Given the description of an element on the screen output the (x, y) to click on. 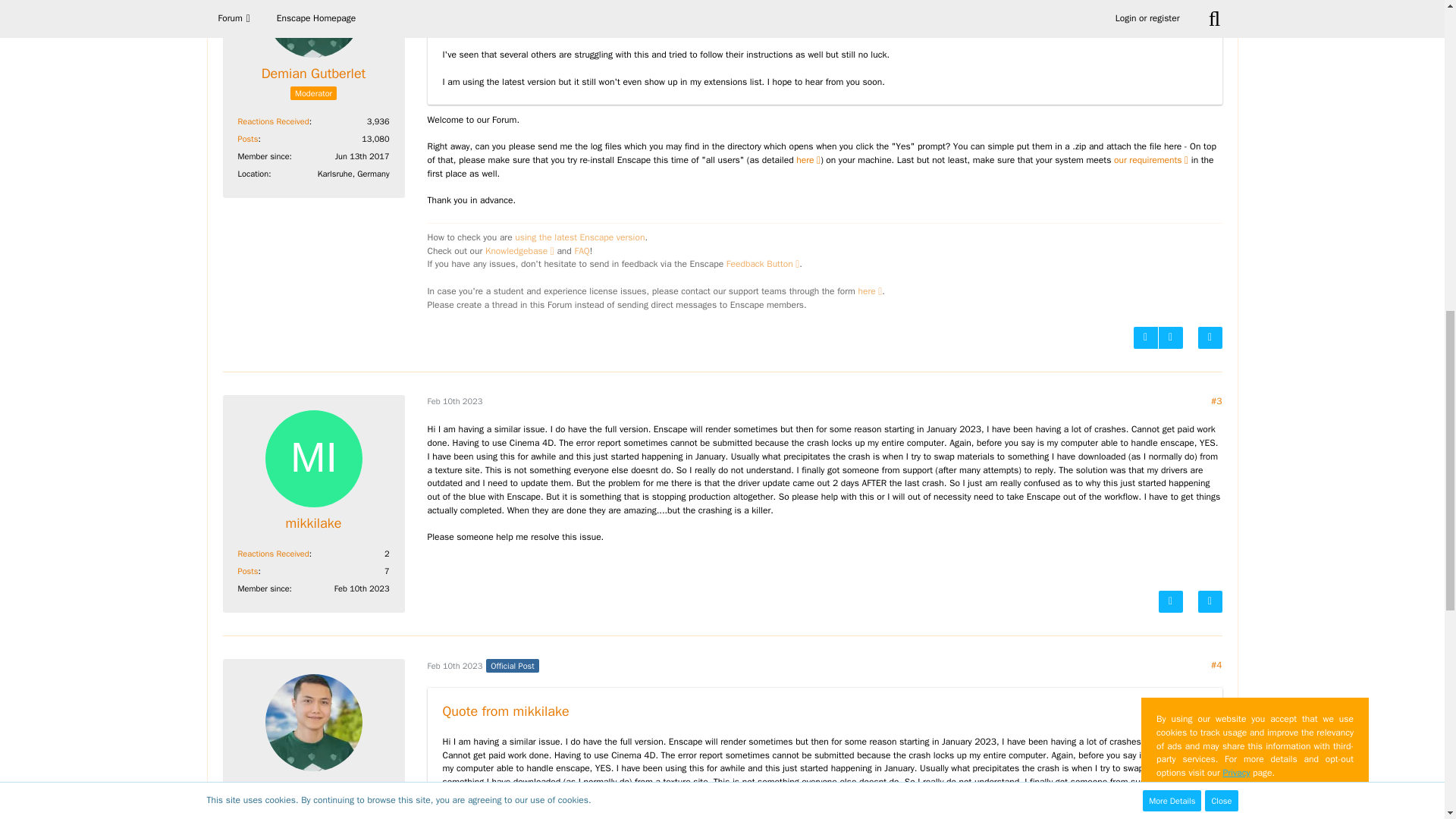
Posts (248, 138)
Reactions Received (273, 121)
Quote from OxoConcepts (516, 2)
Demian Gutberlet (314, 73)
here (808, 159)
our requirements (1150, 159)
